Given the description of an element on the screen output the (x, y) to click on. 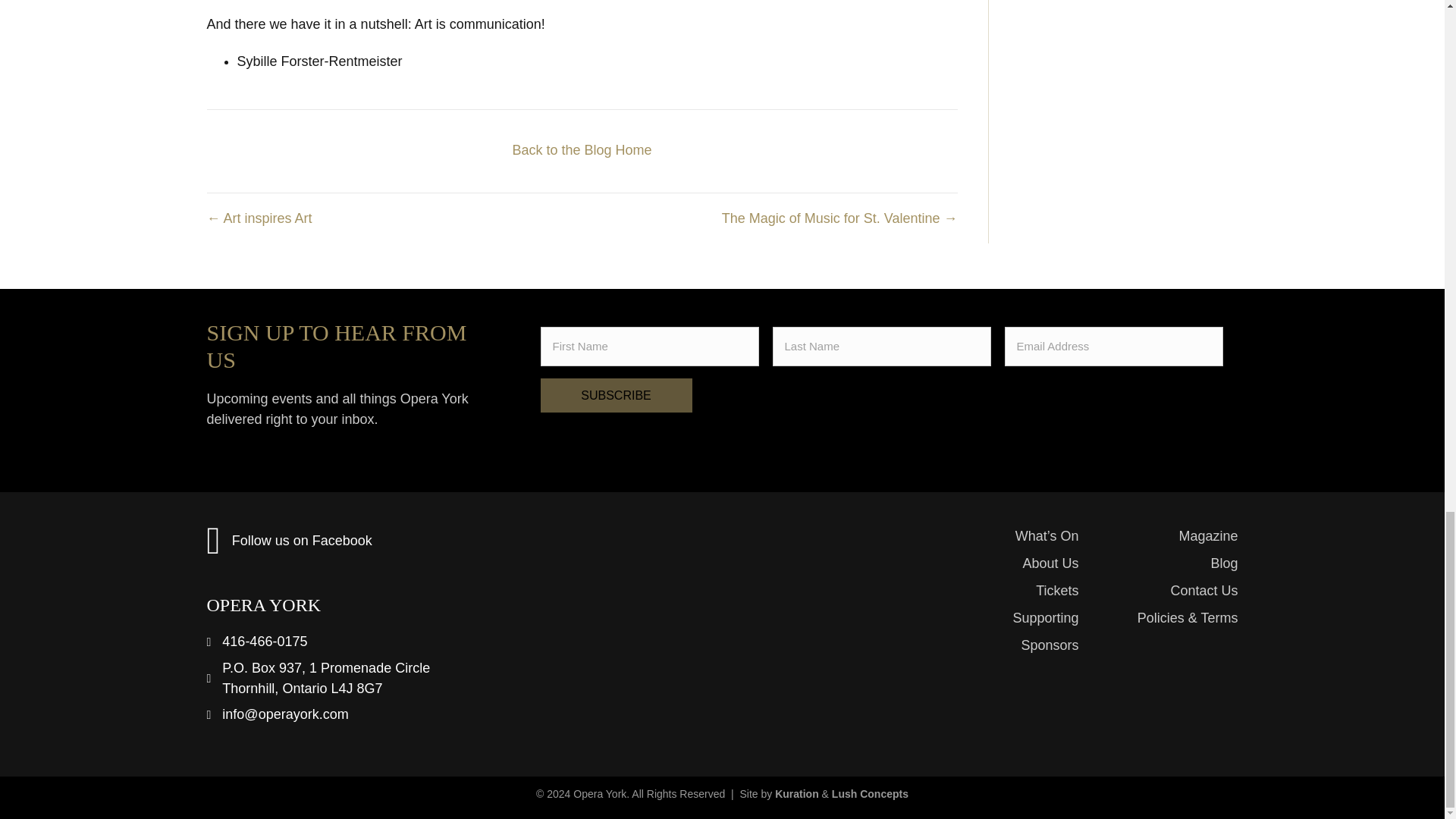
Back to the Blog Home (581, 150)
Subscribe (615, 395)
